Given the description of an element on the screen output the (x, y) to click on. 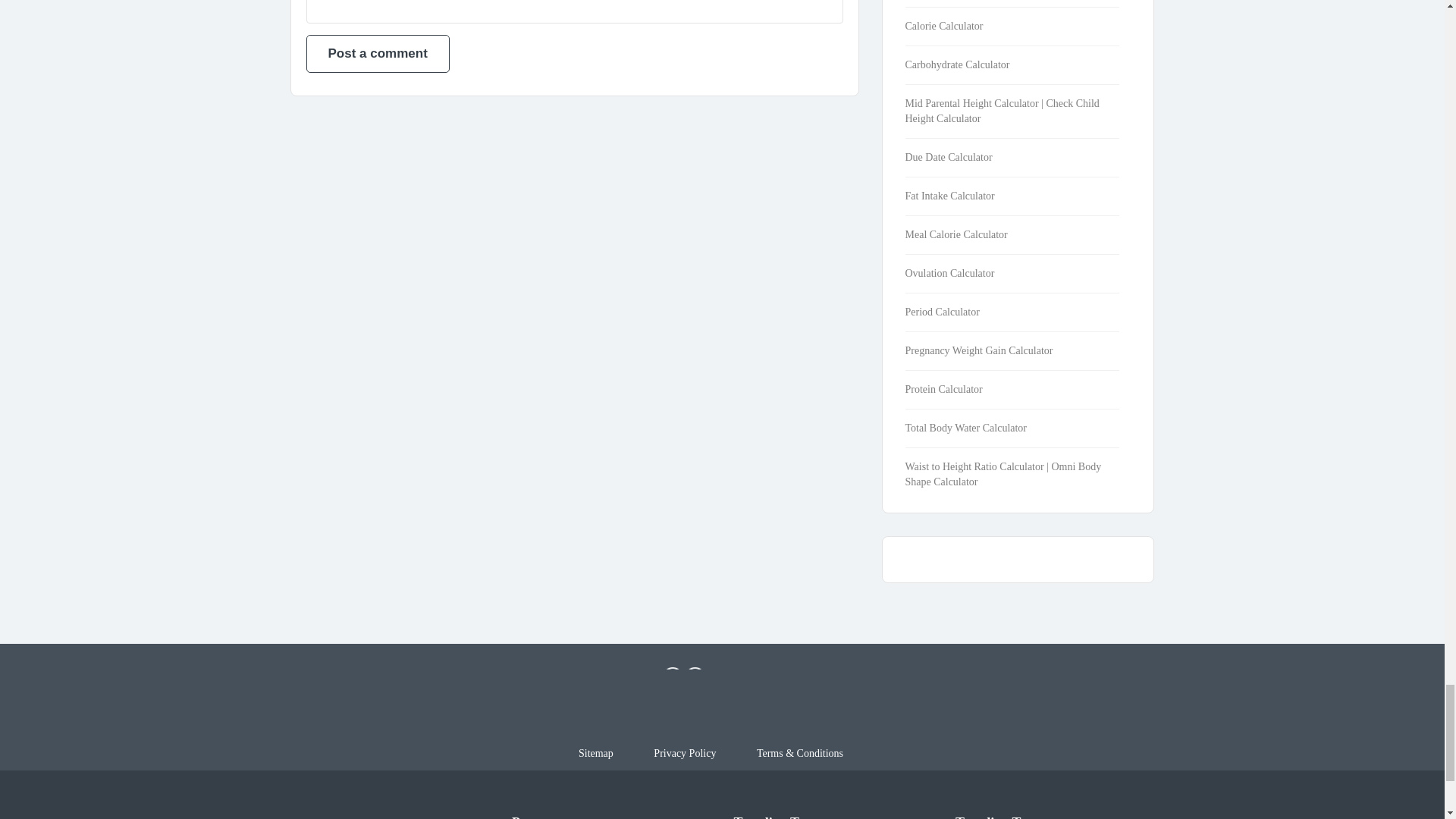
Post a comment (377, 53)
